Given the description of an element on the screen output the (x, y) to click on. 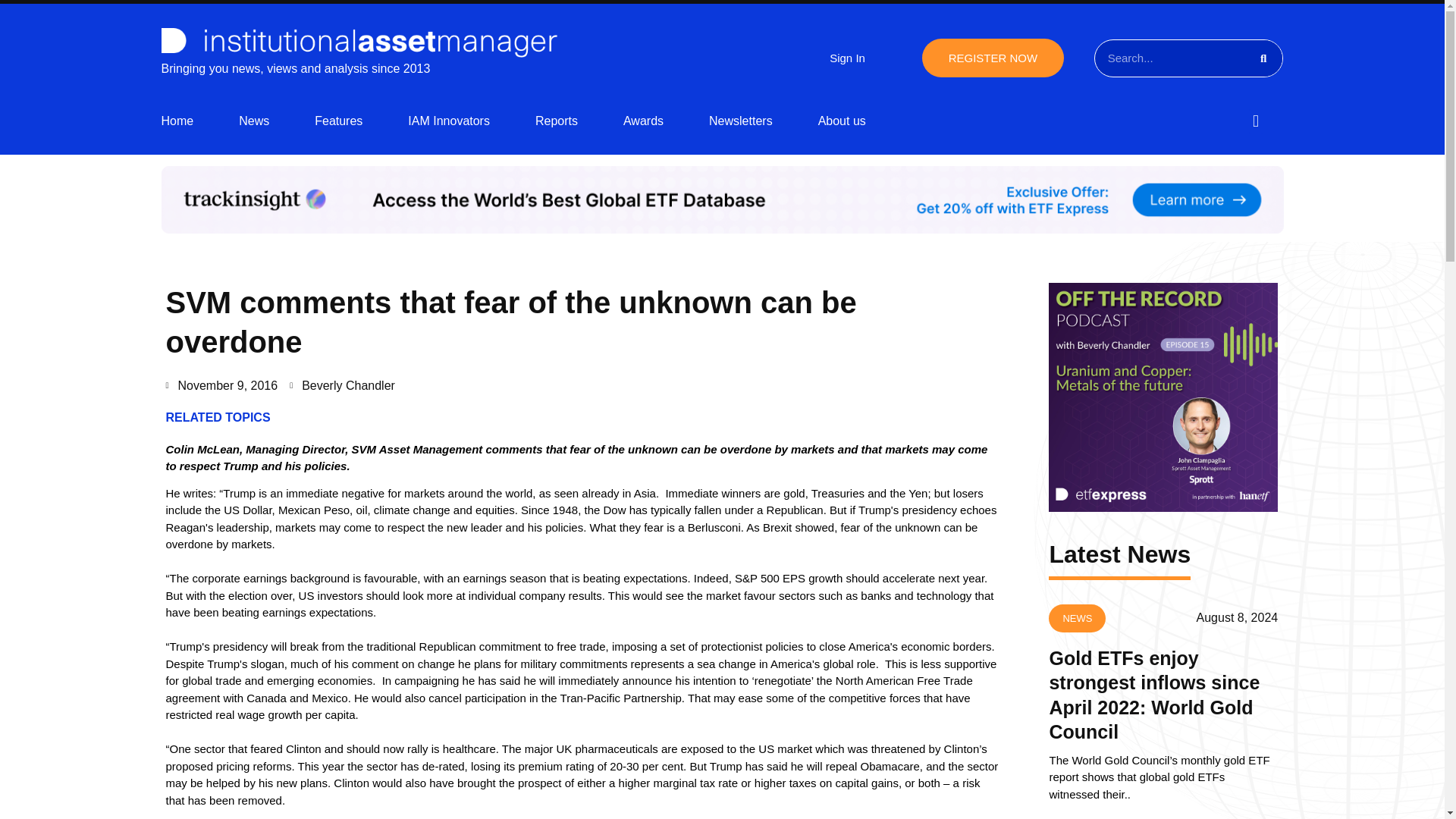
IAM Innovators (448, 121)
Home (176, 121)
Awards (643, 121)
Newsletters (741, 121)
Sign In (847, 57)
Reports (556, 121)
Features (338, 121)
REGISTER NOW (992, 57)
About us (842, 121)
